Given the description of an element on the screen output the (x, y) to click on. 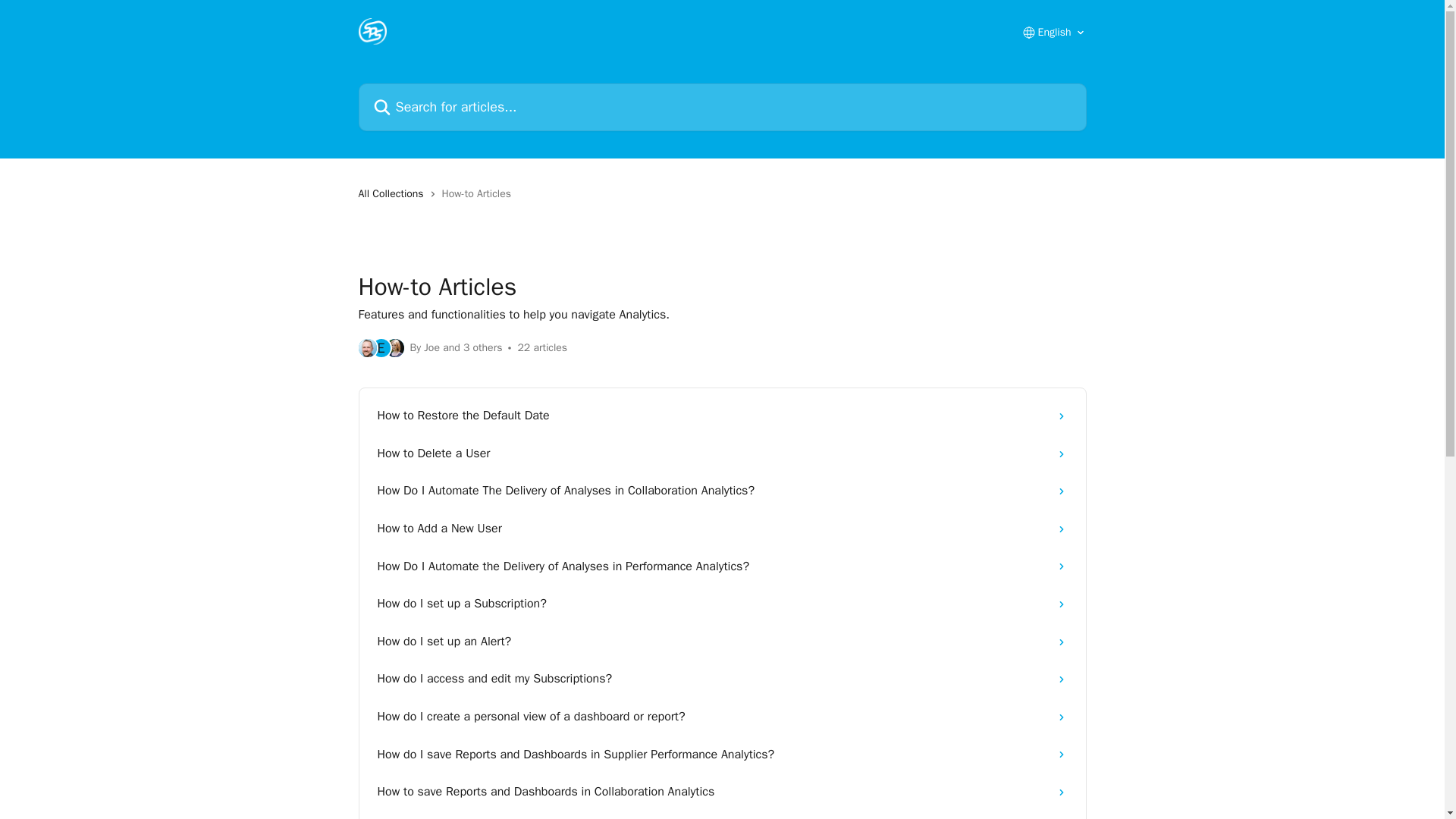
How do I set up a Subscription? (722, 604)
How to Restore the Default Date (722, 415)
How to Add a New User (722, 528)
How do I set up an Alert? (722, 641)
How do I access and edit my Subscriptions? (722, 679)
How do I create a personal view of a dashboard or report? (722, 717)
All Collections (393, 193)
How to Delete a User (722, 453)
